Given the description of an element on the screen output the (x, y) to click on. 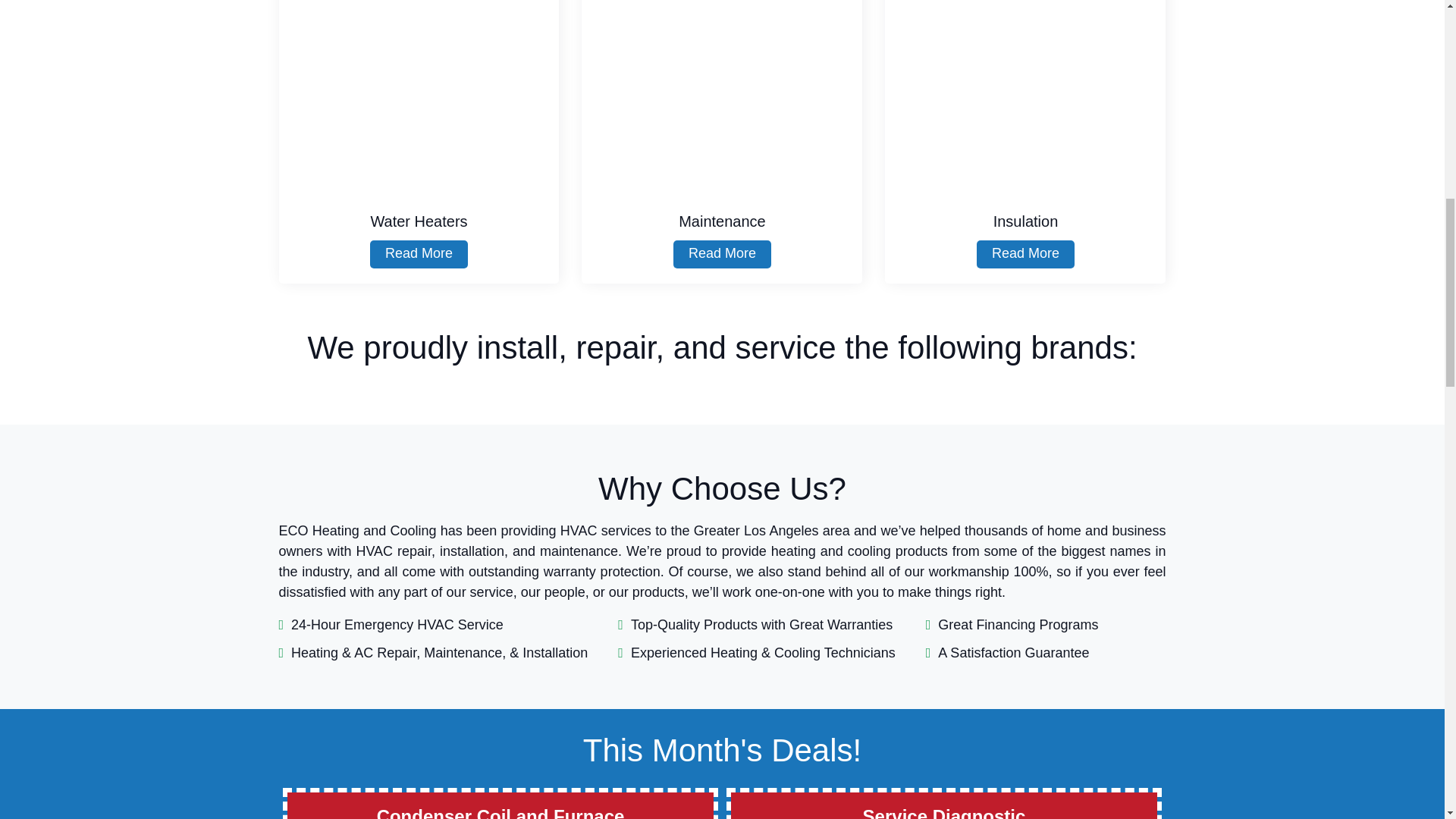
Water Heaters (419, 97)
Maintenance (720, 97)
Insulation (1025, 97)
